Given the description of an element on the screen output the (x, y) to click on. 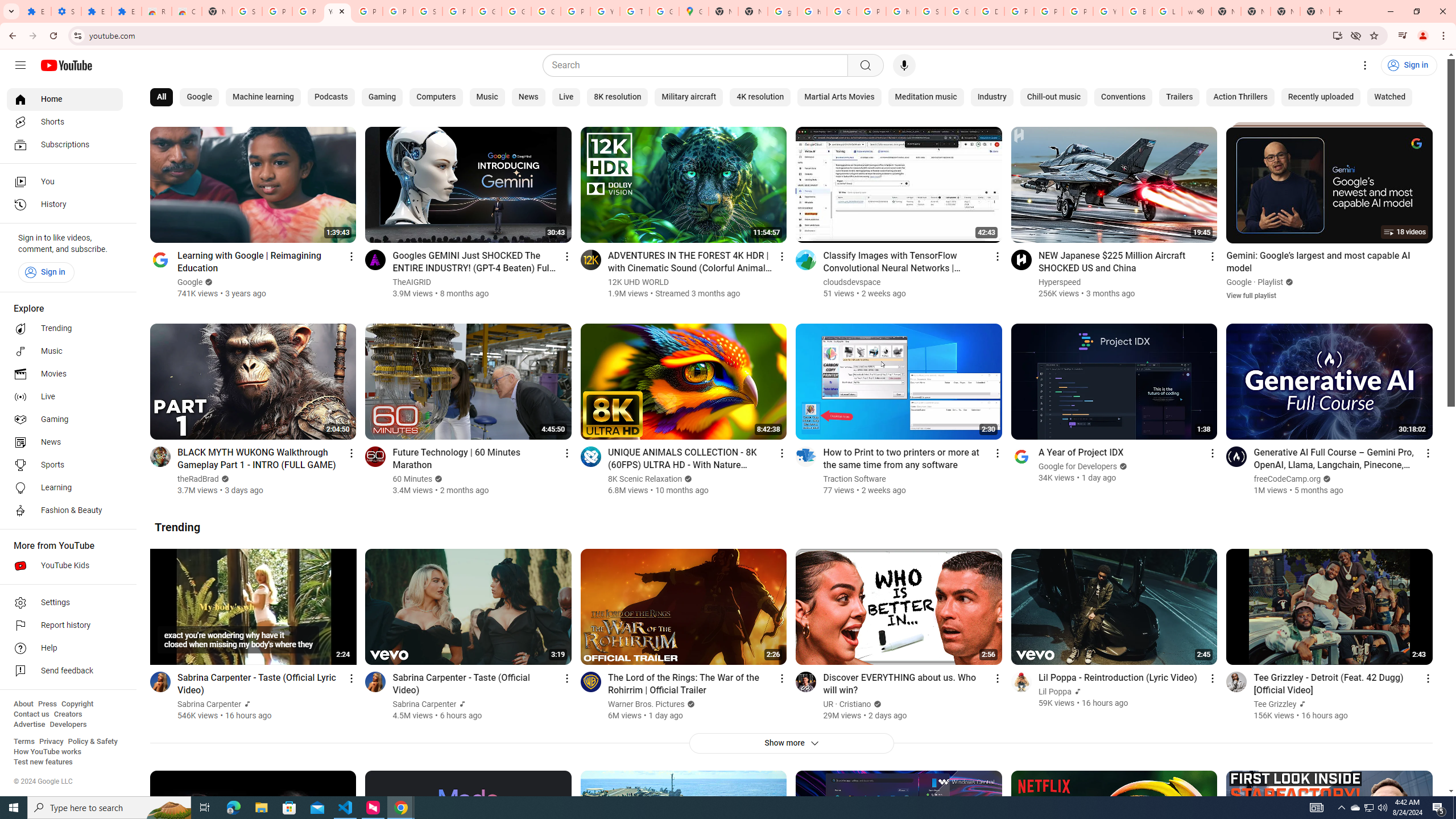
Contact us (31, 714)
YouTube (1107, 11)
Subscriptions (64, 144)
Industry (991, 97)
Trailers (1178, 97)
Military aircraft (689, 97)
theRadBrad (198, 478)
Official Artist Channel (1301, 704)
Tee Grizzley (1275, 704)
Guide (20, 65)
Copyright (77, 703)
Browse Chrome as a guest - Computer - Google Chrome Help (1137, 11)
